Given the description of an element on the screen output the (x, y) to click on. 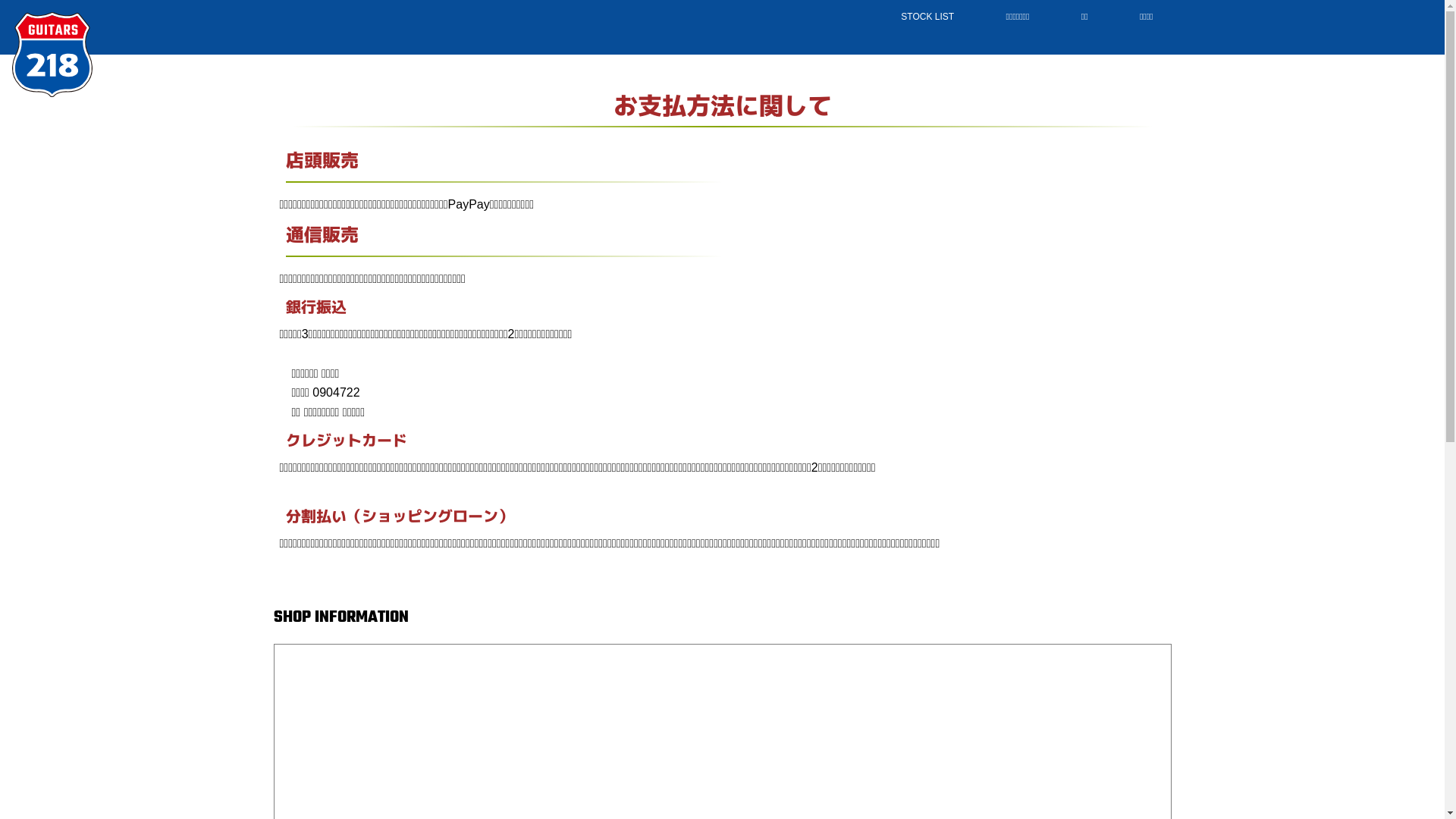
STOCK LIST Element type: text (927, 16)
